Given the description of an element on the screen output the (x, y) to click on. 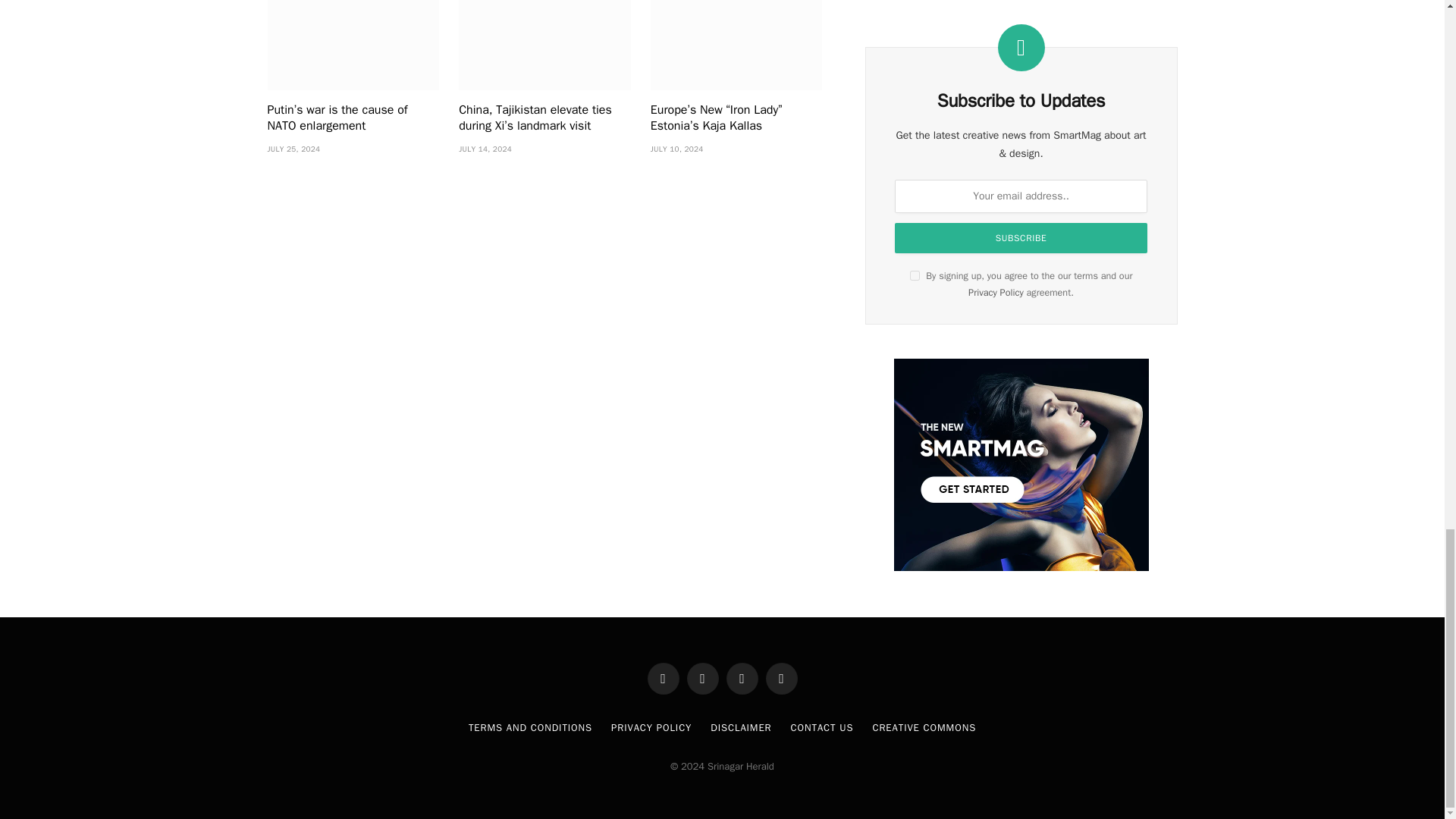
on (915, 275)
Subscribe (1021, 237)
